Given the description of an element on the screen output the (x, y) to click on. 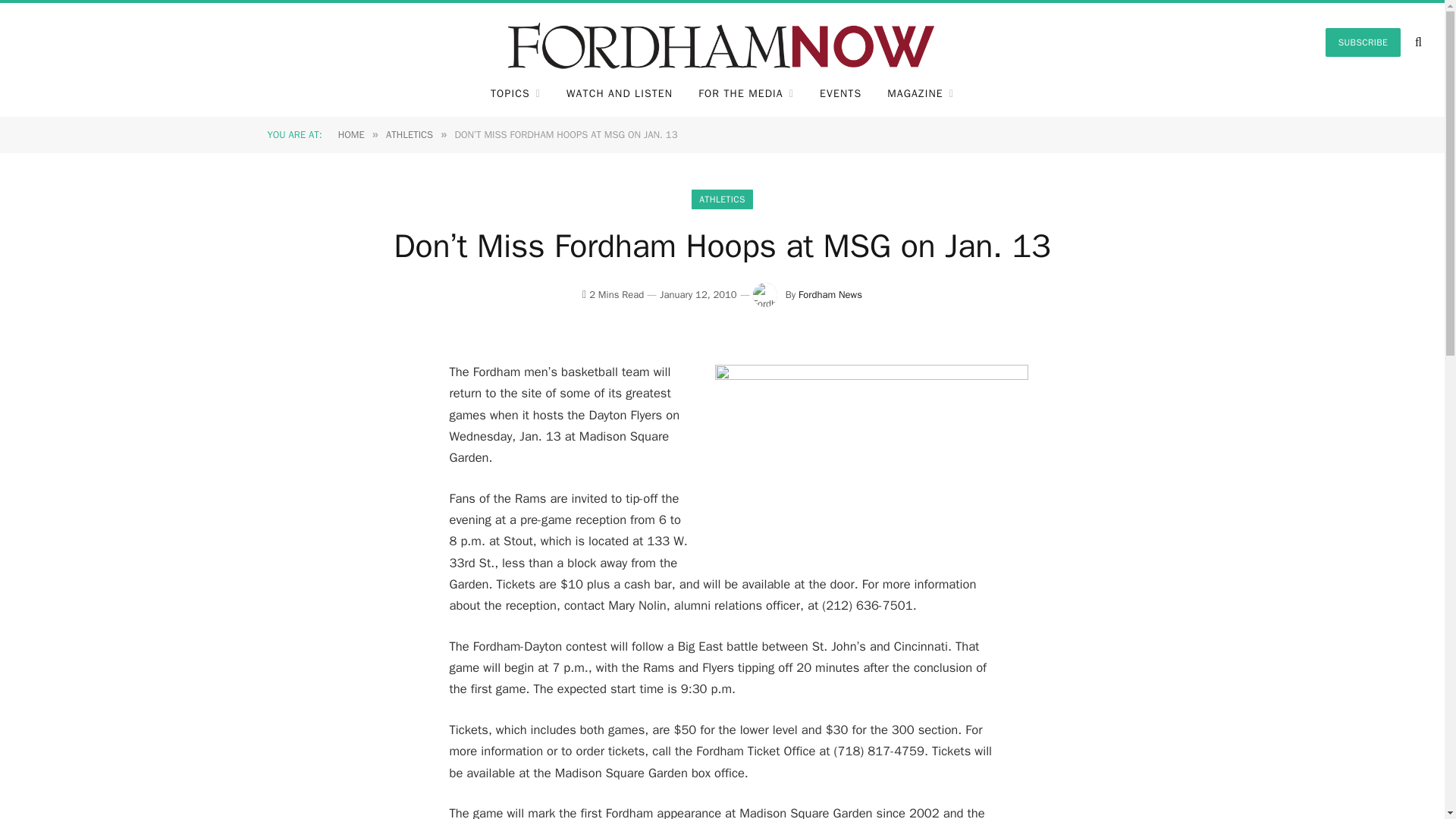
FOR THE MEDIA (745, 94)
Fordham News (829, 294)
Fordham Now (722, 42)
Posts by Fordham News (829, 294)
MAGAZINE (920, 94)
WATCH AND LISTEN (619, 94)
SUBSCRIBE (1362, 41)
ATHLETICS (721, 199)
HOME (351, 133)
EVENTS (840, 94)
